Given the description of an element on the screen output the (x, y) to click on. 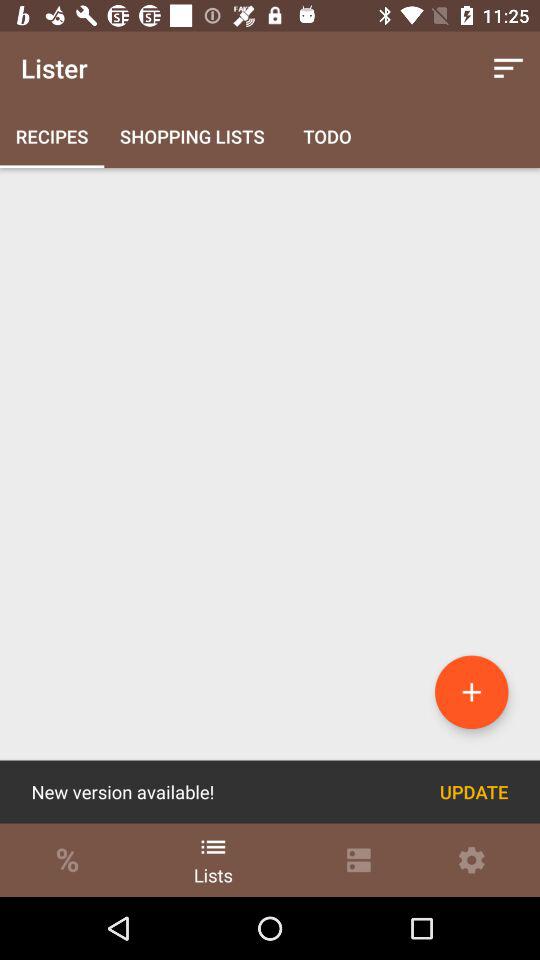
open update item (474, 791)
